Given the description of an element on the screen output the (x, y) to click on. 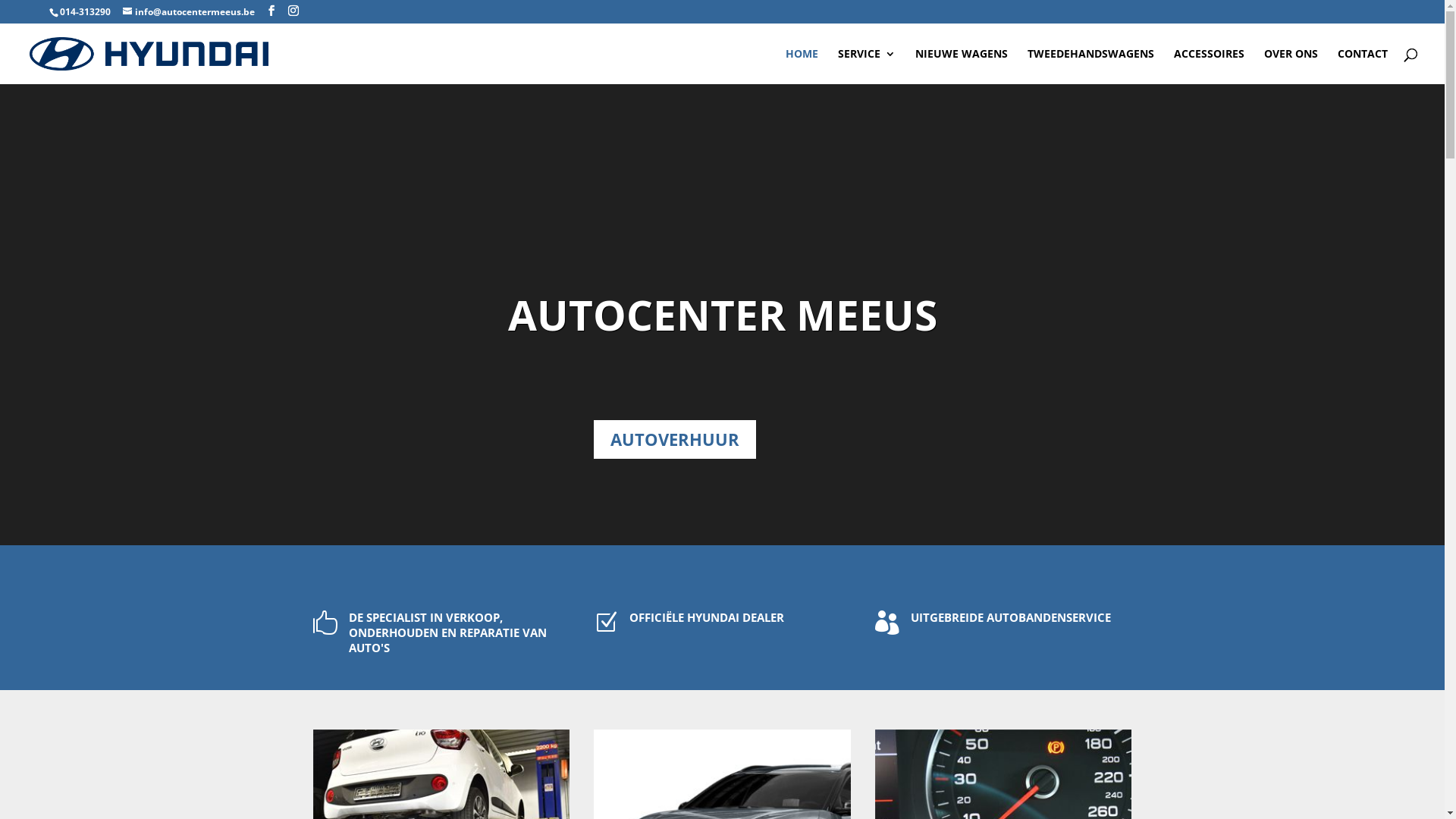
CONTACT Element type: text (1362, 66)
SERVICE Element type: text (866, 66)
014-313290 Element type: text (84, 11)
HOME Element type: text (801, 66)
NIEUWE WAGENS Element type: text (961, 66)
ACCESSOIRES Element type: text (1208, 66)
TWEEDEHANDSWAGENS Element type: text (1090, 66)
AUTOVERHUUR Element type: text (674, 439)
OVER ONS Element type: text (1290, 66)
info@autocentermeeus.be Element type: text (188, 11)
